Given the description of an element on the screen output the (x, y) to click on. 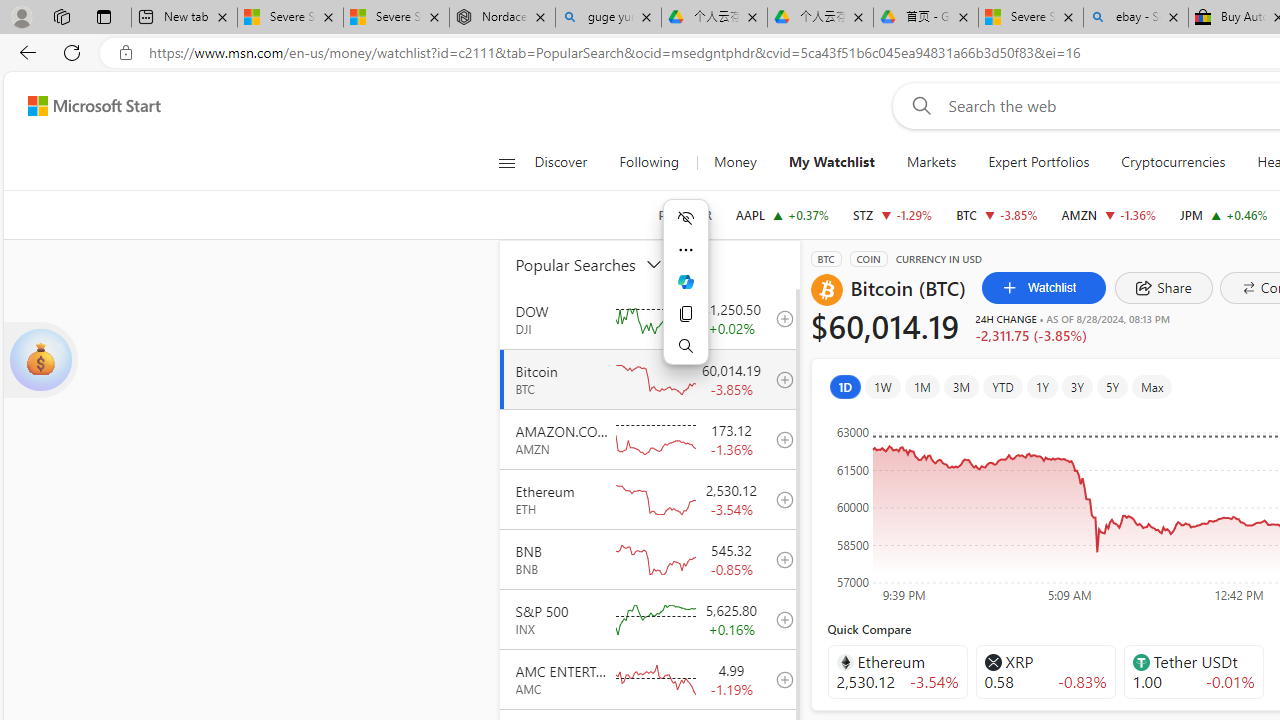
My Watchlist (830, 162)
BTC Bitcoin decrease 60,014.19 -2,311.75 -3.85% (996, 214)
Hide menu (685, 218)
STZ CONSTELLATION BRANDS, INC. decrease 239.98 -3.13 -1.29% (891, 214)
Max (1151, 386)
Cryptocurrencies (1173, 162)
Markets (930, 162)
Popular Searches (601, 264)
